Given the description of an element on the screen output the (x, y) to click on. 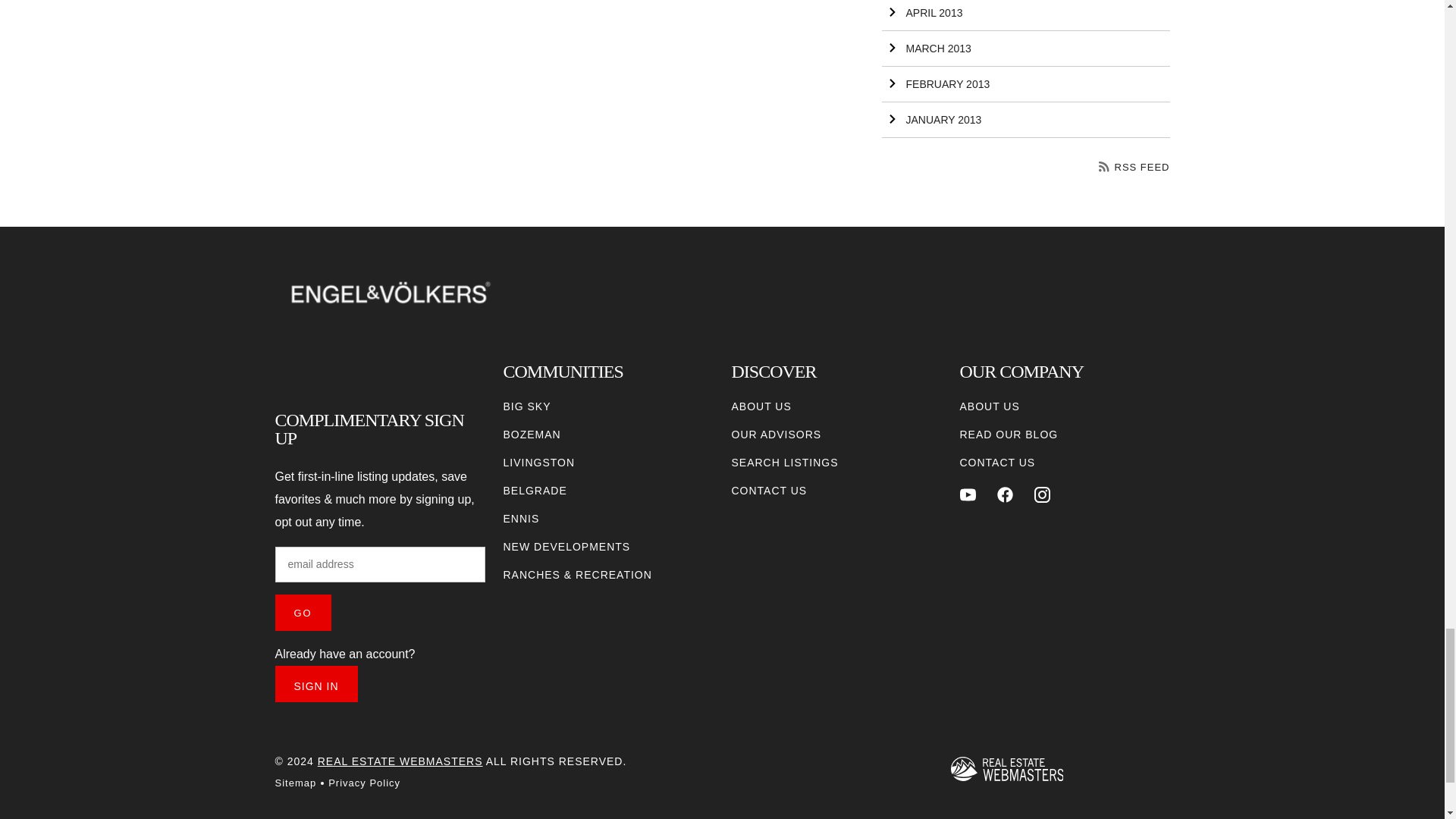
RSS FEED (1134, 166)
